Given the description of an element on the screen output the (x, y) to click on. 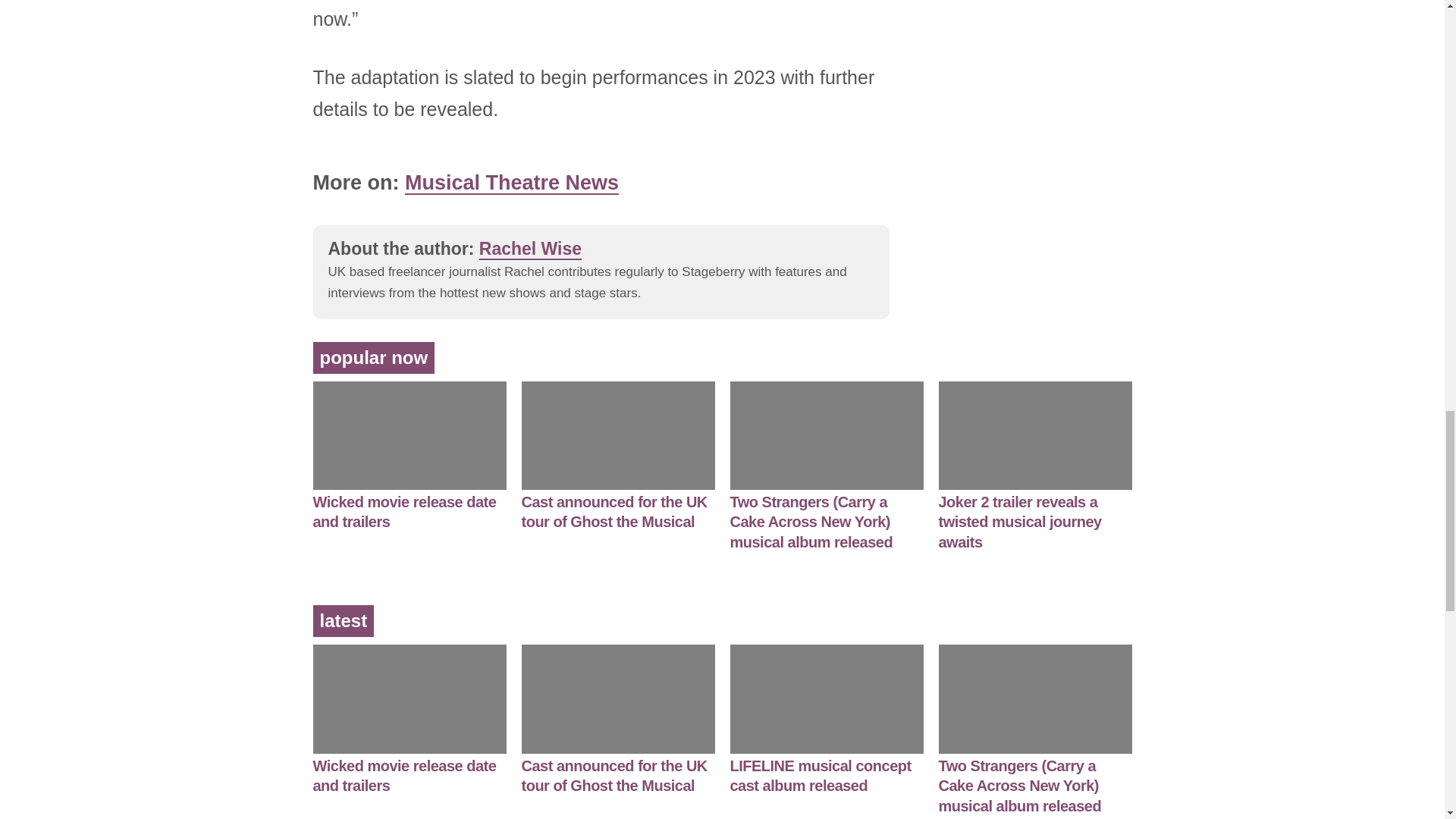
Cast announced for the UK tour of Ghost the Musical (614, 511)
Rachel Wise (529, 247)
Musical Theatre News (511, 182)
Wicked movie release date and trailers (404, 511)
Wicked movie release date and trailers (404, 775)
Joker 2 trailer reveals a twisted musical journey awaits (1020, 521)
